Given the description of an element on the screen output the (x, y) to click on. 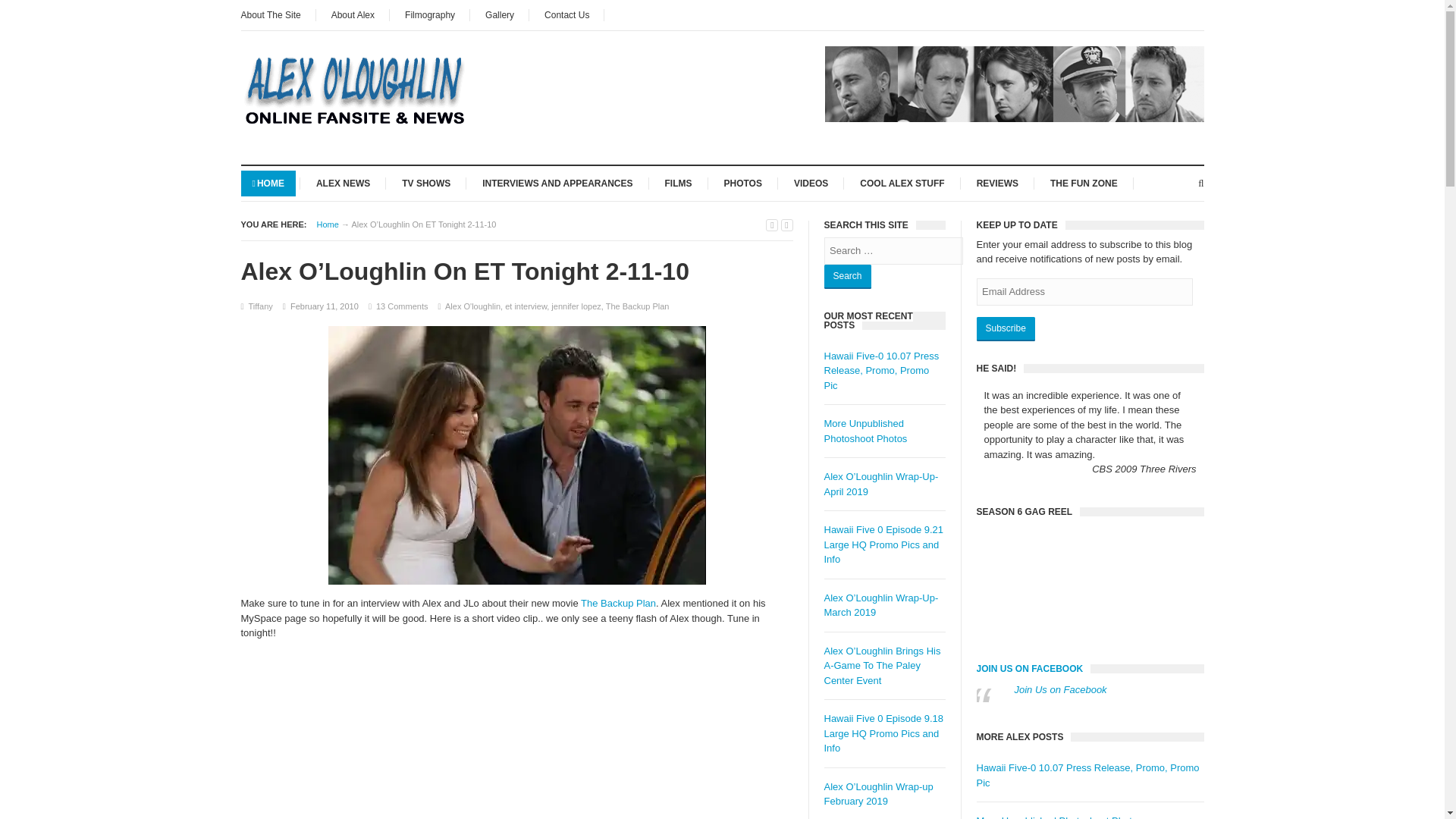
ALEX NEWS (342, 182)
TV SHOWS (425, 182)
Alex O'loughlin (472, 306)
THE FUN ZONE (1084, 182)
bup-ny-57 (515, 454)
Home (328, 224)
COOL ALEX STUFF (901, 182)
et interview (526, 306)
Gallery (499, 15)
The Backup Plan (618, 603)
